Given the description of an element on the screen output the (x, y) to click on. 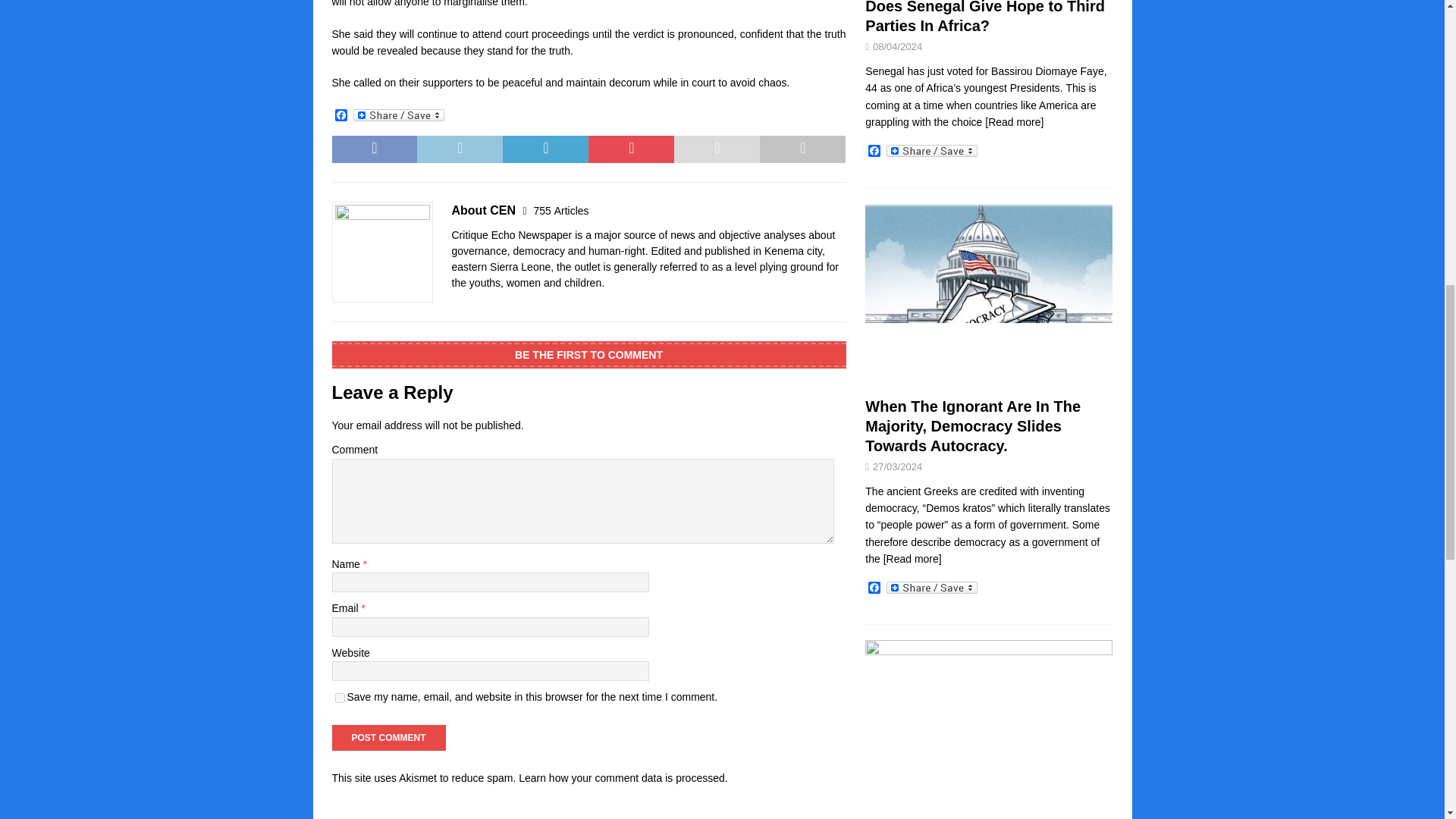
Facebook (340, 115)
yes (339, 697)
Post Comment (388, 737)
